Given the description of an element on the screen output the (x, y) to click on. 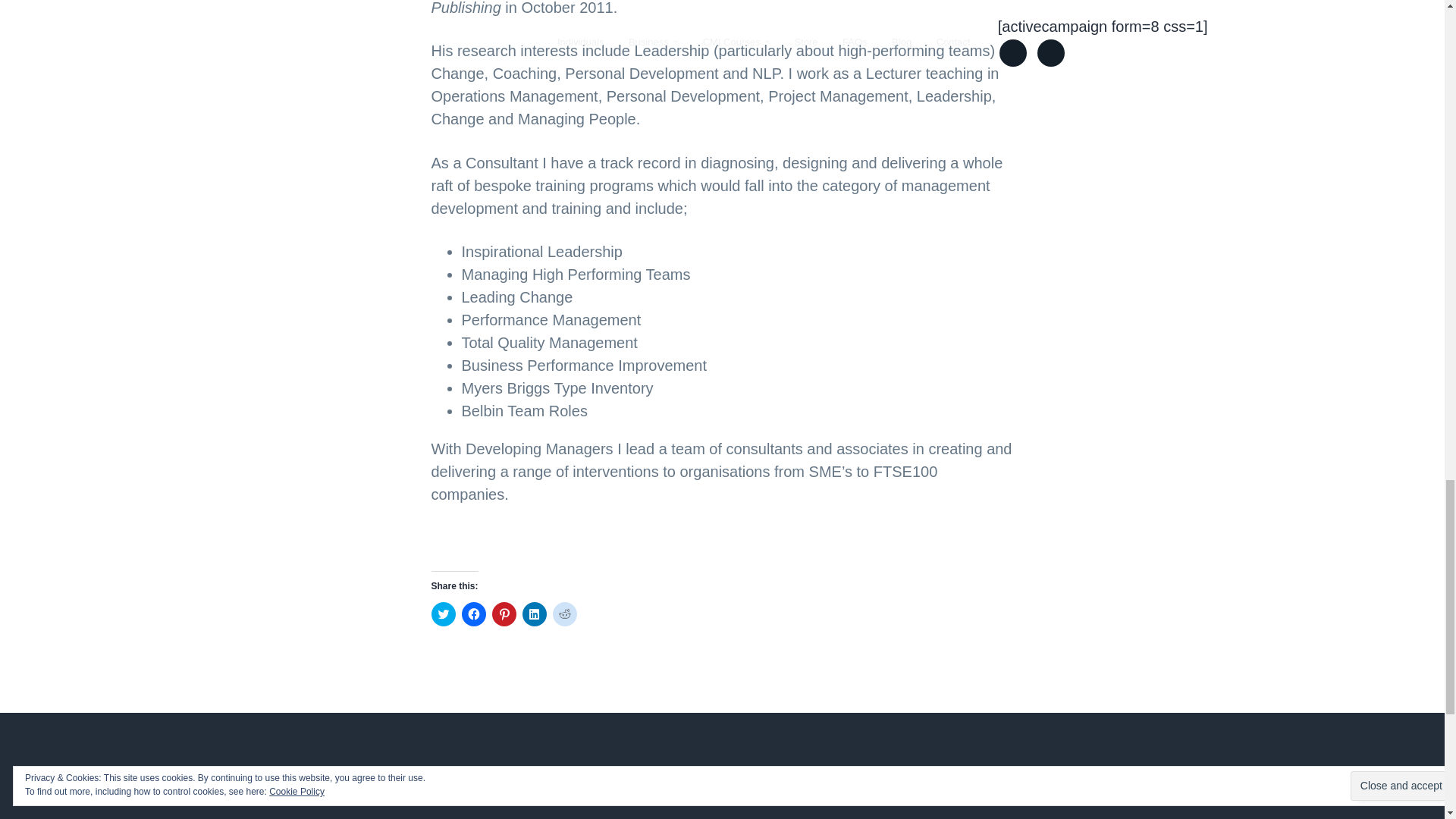
Click to share on Twitter (442, 613)
Click to share on Pinterest (503, 613)
Click to share on Facebook (472, 613)
Click to share on LinkedIn (533, 613)
Click to share on Reddit (563, 613)
